Given the description of an element on the screen output the (x, y) to click on. 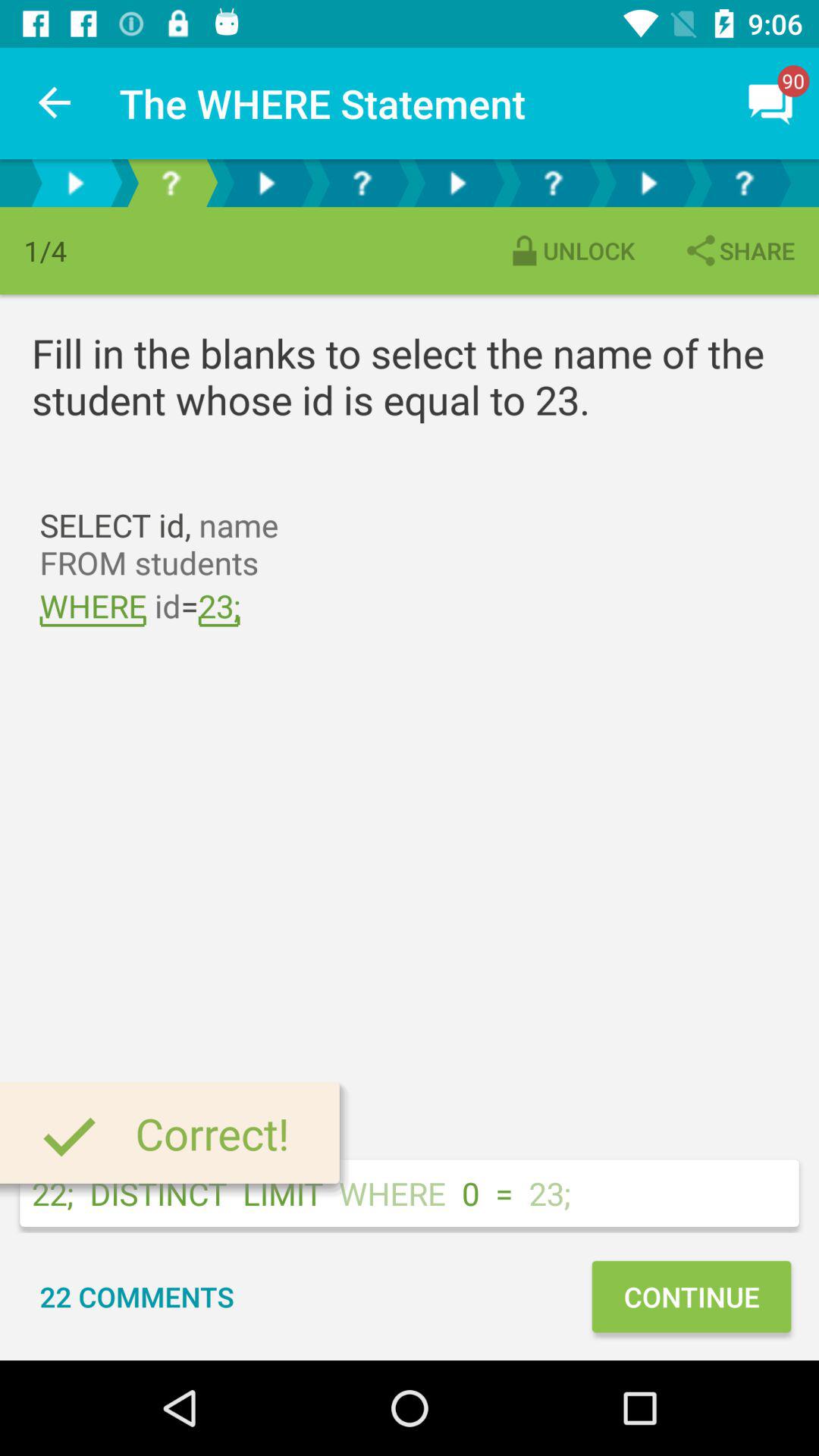
go to the next page (265, 183)
